Given the description of an element on the screen output the (x, y) to click on. 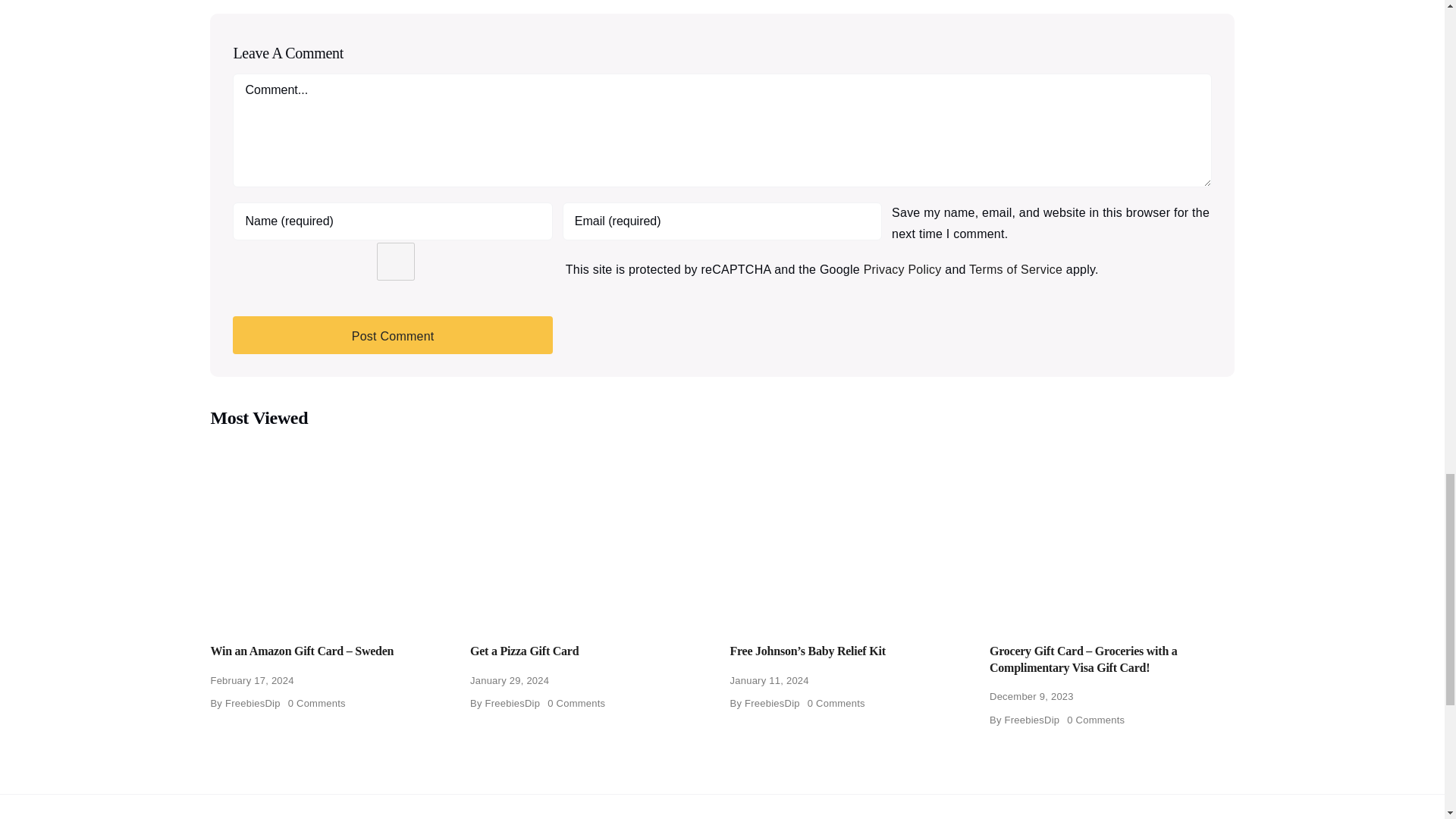
Post Comment (391, 334)
Amazon Gift Card SEK 1000 (331, 532)
yes (394, 261)
Posts by FreebiesDip (771, 703)
Posts by FreebiesDip (253, 703)
Posts by FreebiesDip (512, 703)
pizza gift card (592, 532)
